Given the description of an element on the screen output the (x, y) to click on. 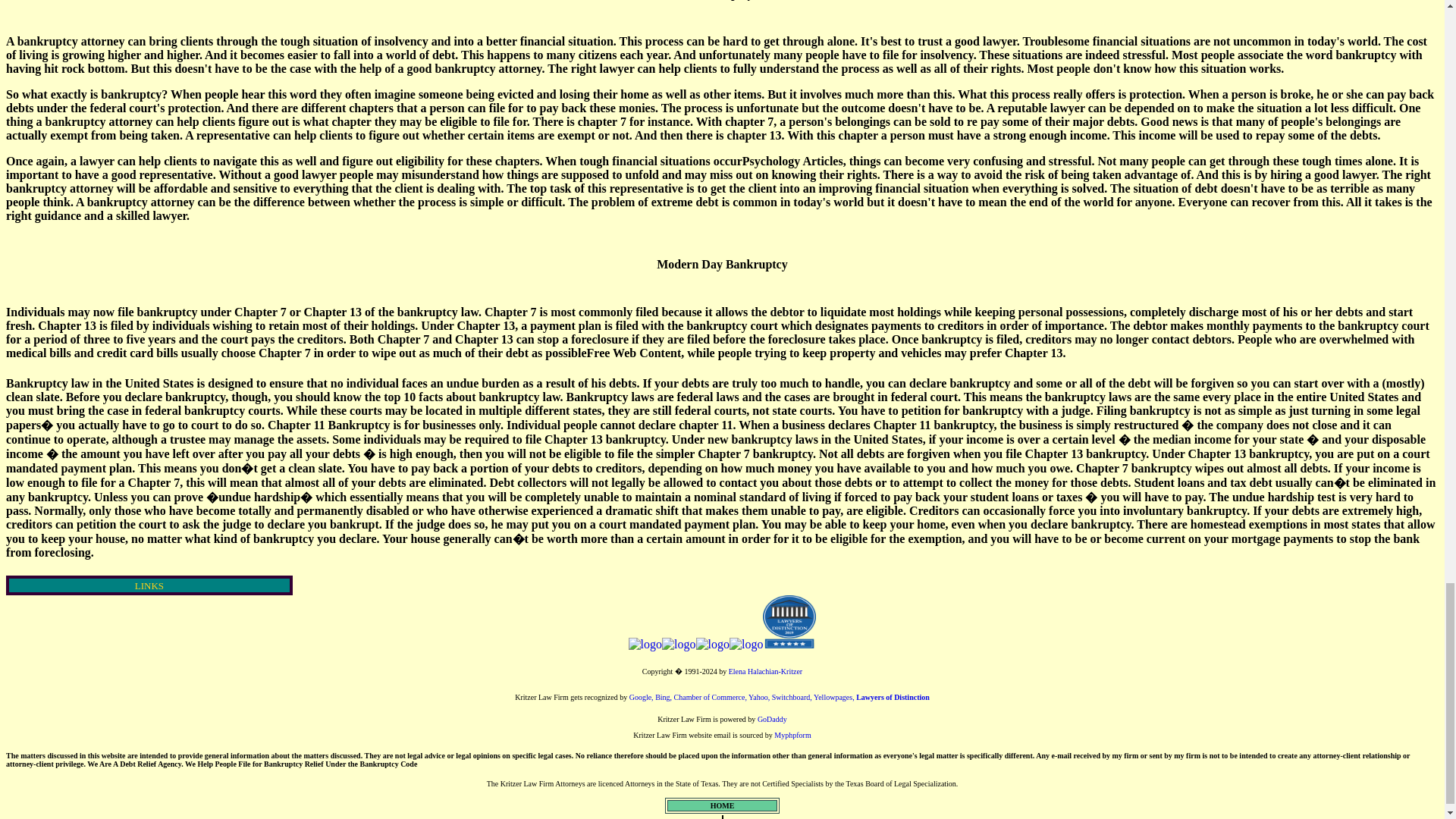
LINKS (149, 584)
Switchboard, (791, 696)
Elena Halachian-Kritzer (765, 671)
Bing, (663, 696)
Chamber of Commerce, (710, 696)
Google, (640, 696)
Yahoo, (759, 696)
